Given the description of an element on the screen output the (x, y) to click on. 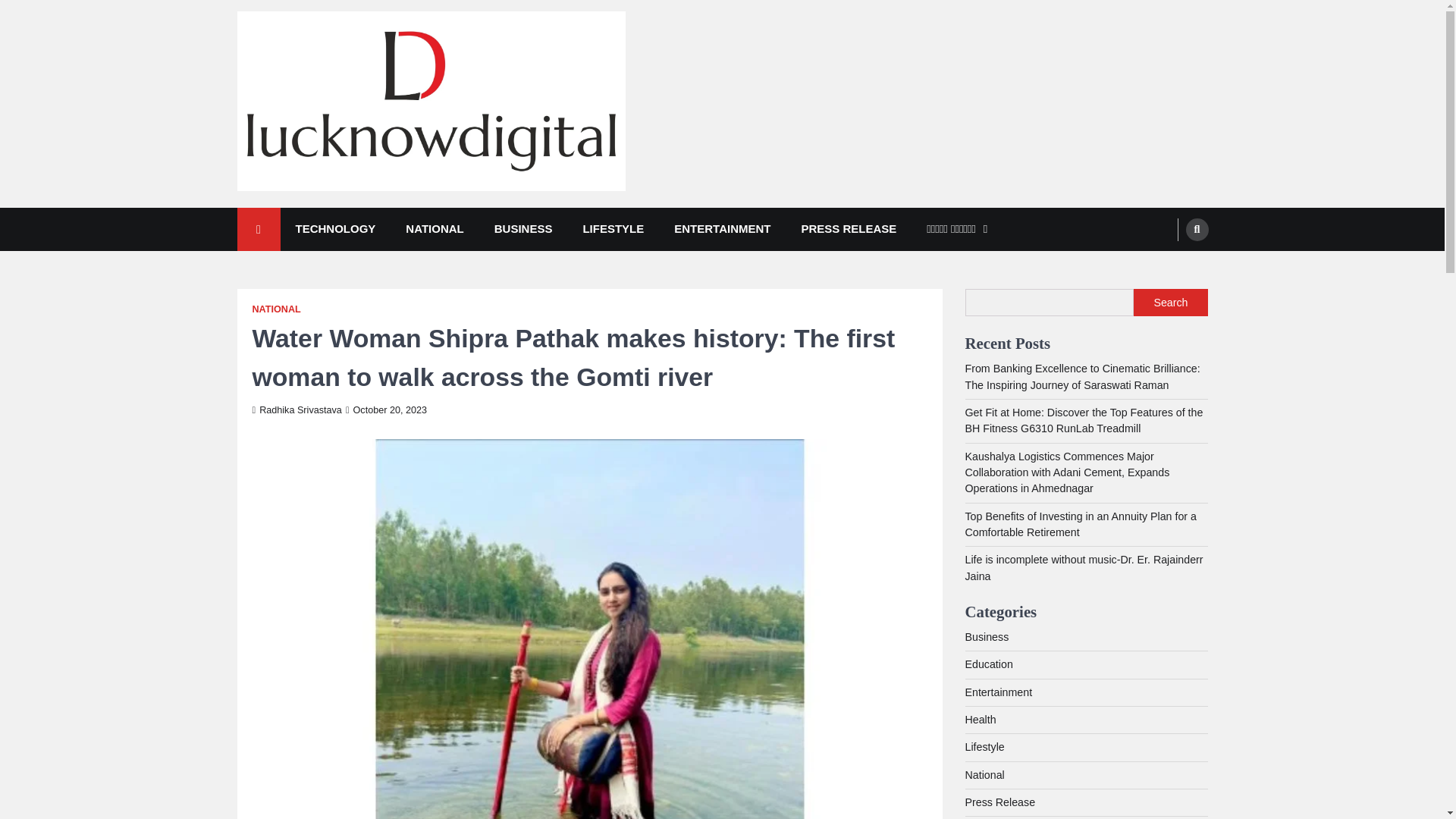
TECHNOLOGY (336, 229)
BUSINESS (523, 229)
NATIONAL (275, 309)
Lucknow Digital (327, 212)
ENTERTAINMENT (722, 229)
Life is incomplete without music-Dr. Er. Rajainderr Jaina (1082, 567)
Search (1197, 229)
Search (1170, 302)
LIFESTYLE (613, 229)
October 20, 2023 (386, 409)
Radhika Srivastava (295, 409)
